Given the description of an element on the screen output the (x, y) to click on. 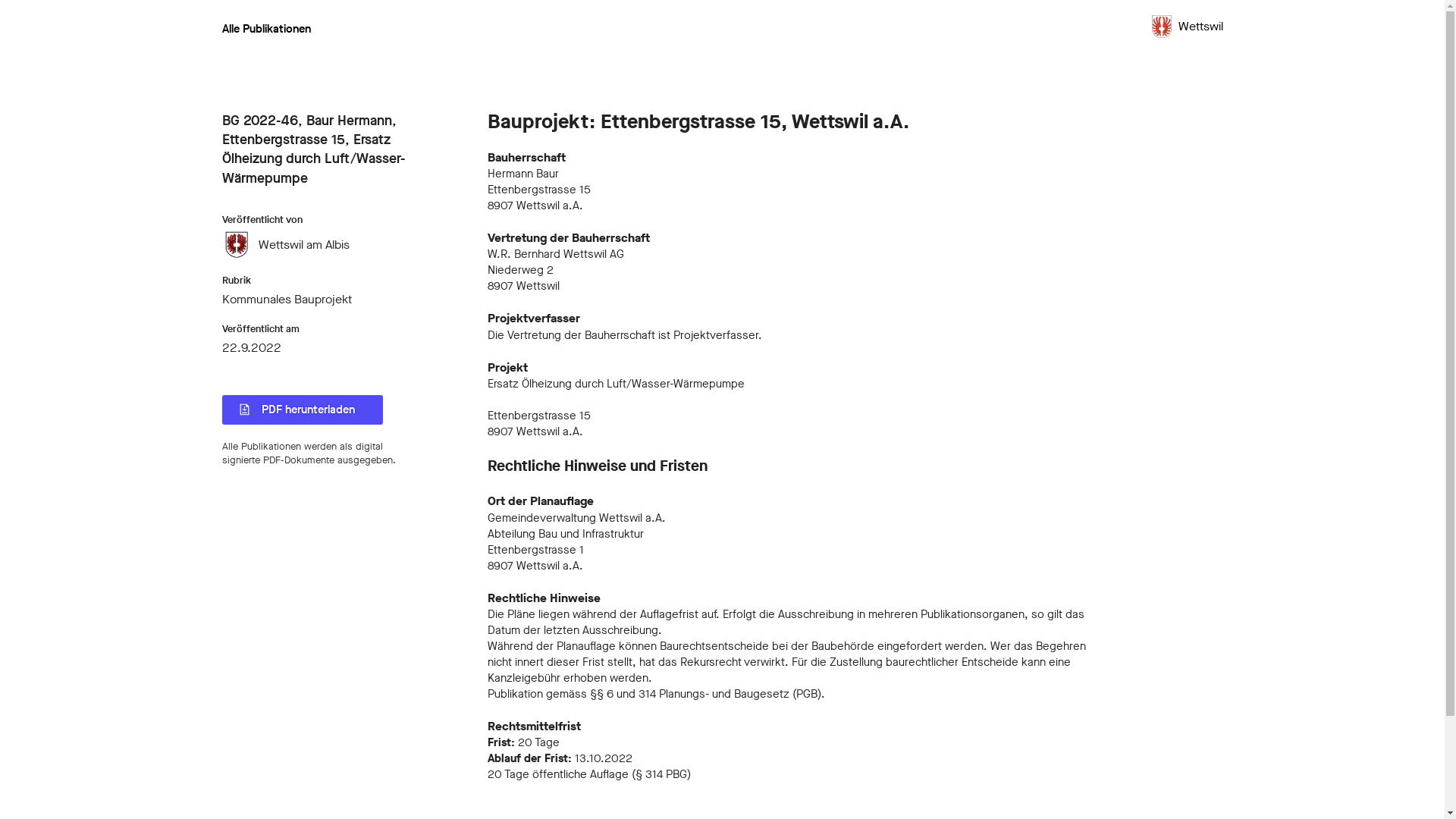
Alle Publikationen Element type: text (265, 28)
PDF herunterladen Element type: text (301, 409)
Wettswil Element type: text (1185, 33)
